Given the description of an element on the screen output the (x, y) to click on. 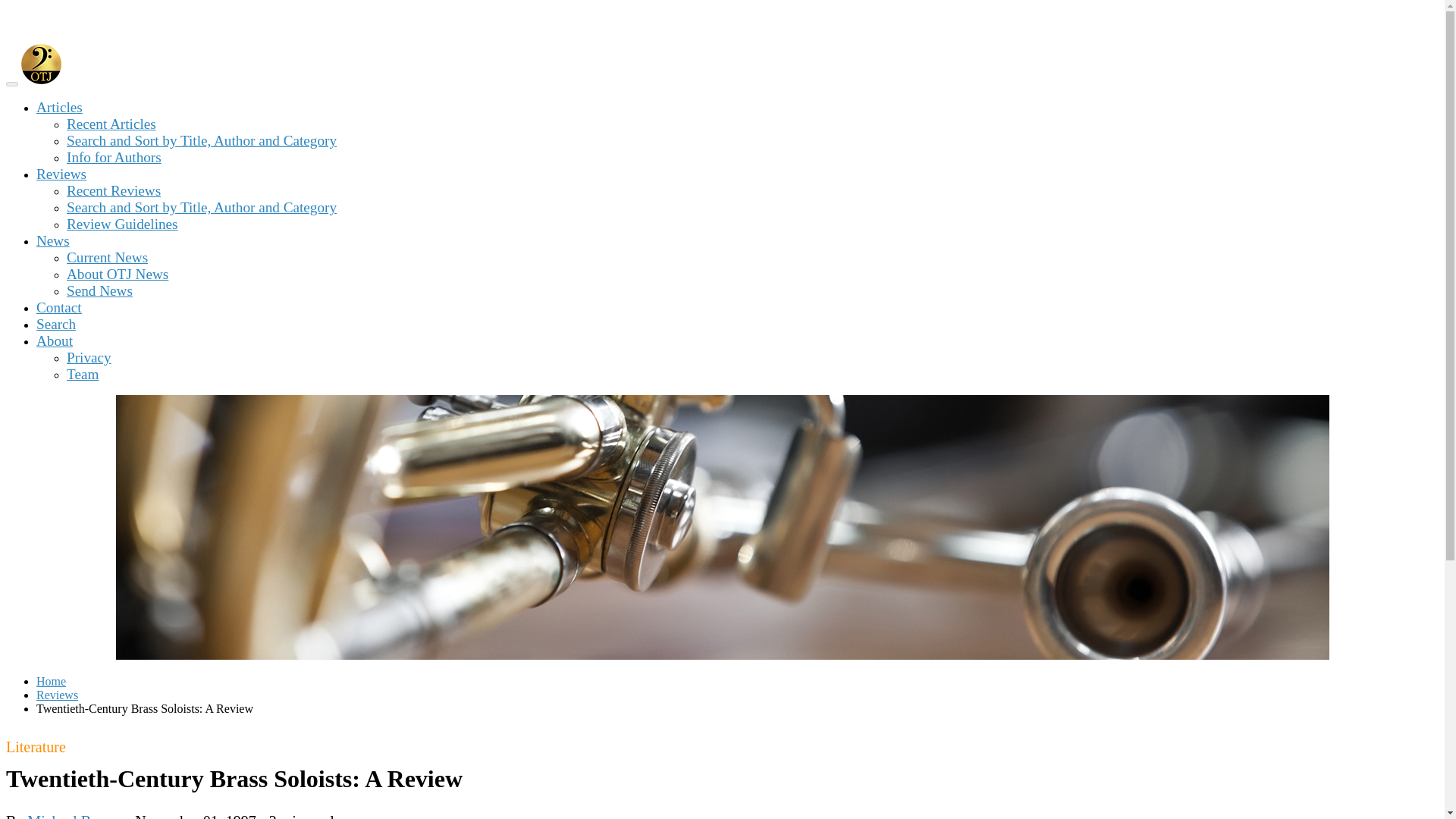
Team (82, 374)
Reviews (57, 694)
Current News (107, 257)
About OTJ News (117, 273)
Recent Articles (110, 123)
Send News (99, 290)
Search (55, 324)
Articles (59, 107)
Info for Authors (113, 157)
Recent Reviews (113, 190)
Contact (58, 307)
Michael Brown (74, 816)
About (54, 340)
Search and Sort by Title, Author and Category (201, 140)
